Given the description of an element on the screen output the (x, y) to click on. 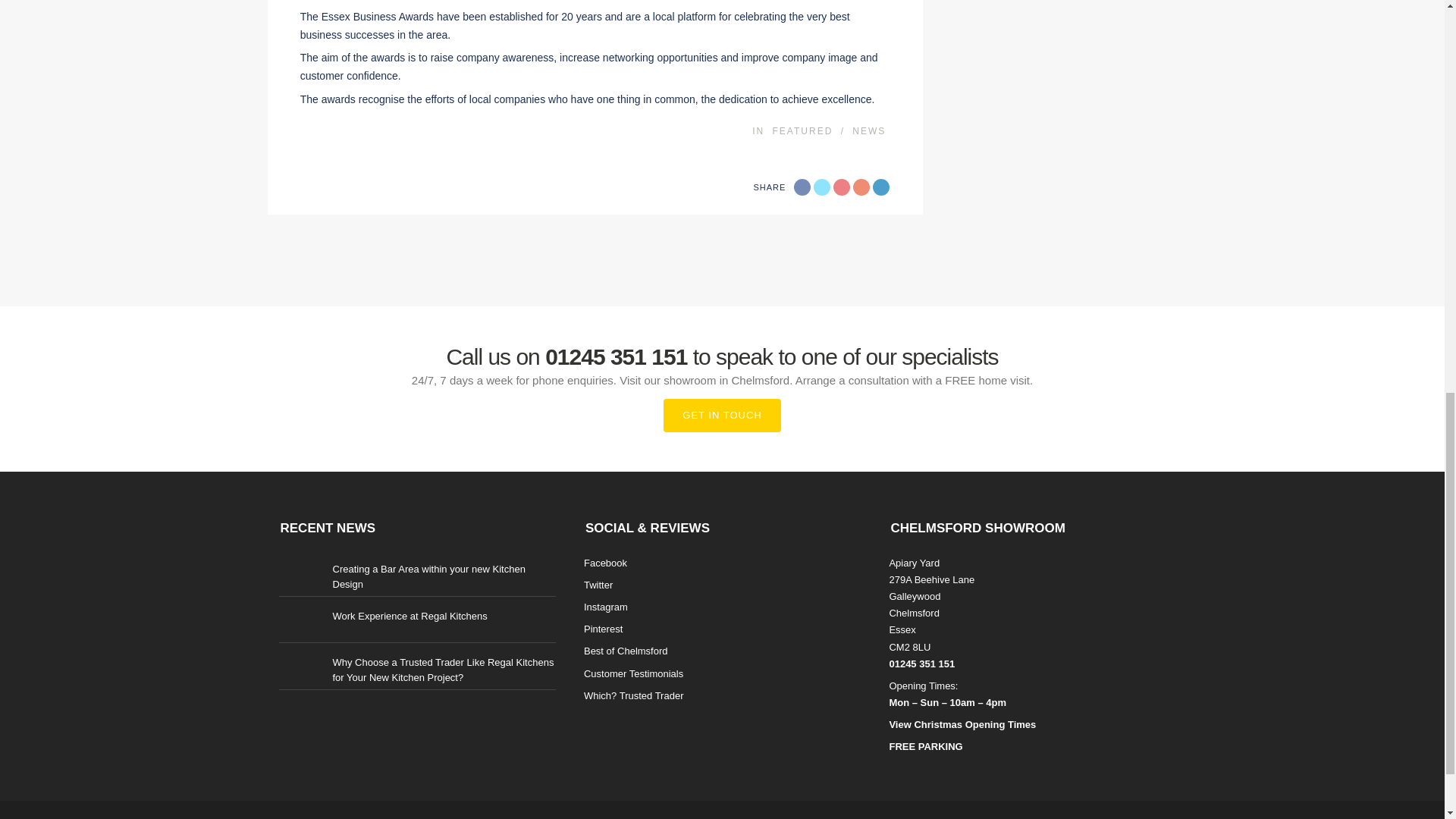
FEATURED (802, 131)
NEWS (868, 131)
GET IN TOUCH (721, 415)
LinkedIn (880, 187)
Page 2 (594, 54)
Creating a Bar Area within your new Kitchen Design (427, 576)
Pinterest (861, 187)
Facebook (801, 187)
Work Experience at Regal Kitchens (408, 615)
Twitter (821, 187)
